Given the description of an element on the screen output the (x, y) to click on. 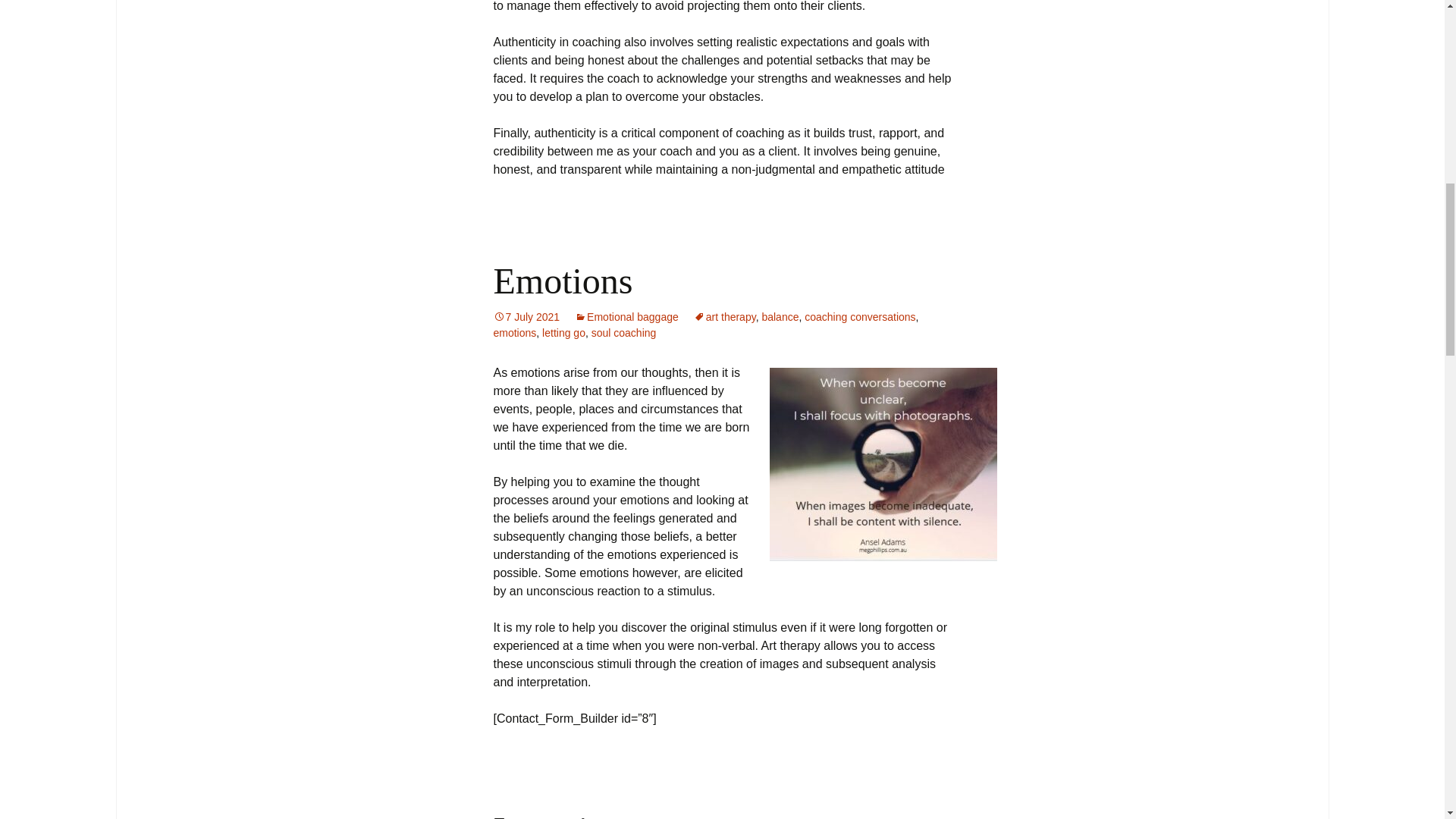
Intention (558, 814)
Permalink to Emotions (526, 316)
balance (779, 316)
art therapy (724, 316)
7 July 2021 (526, 316)
emotions (514, 332)
Emotions (562, 281)
Emotional baggage (626, 316)
coaching conversations (860, 316)
letting go (563, 332)
